Given the description of an element on the screen output the (x, y) to click on. 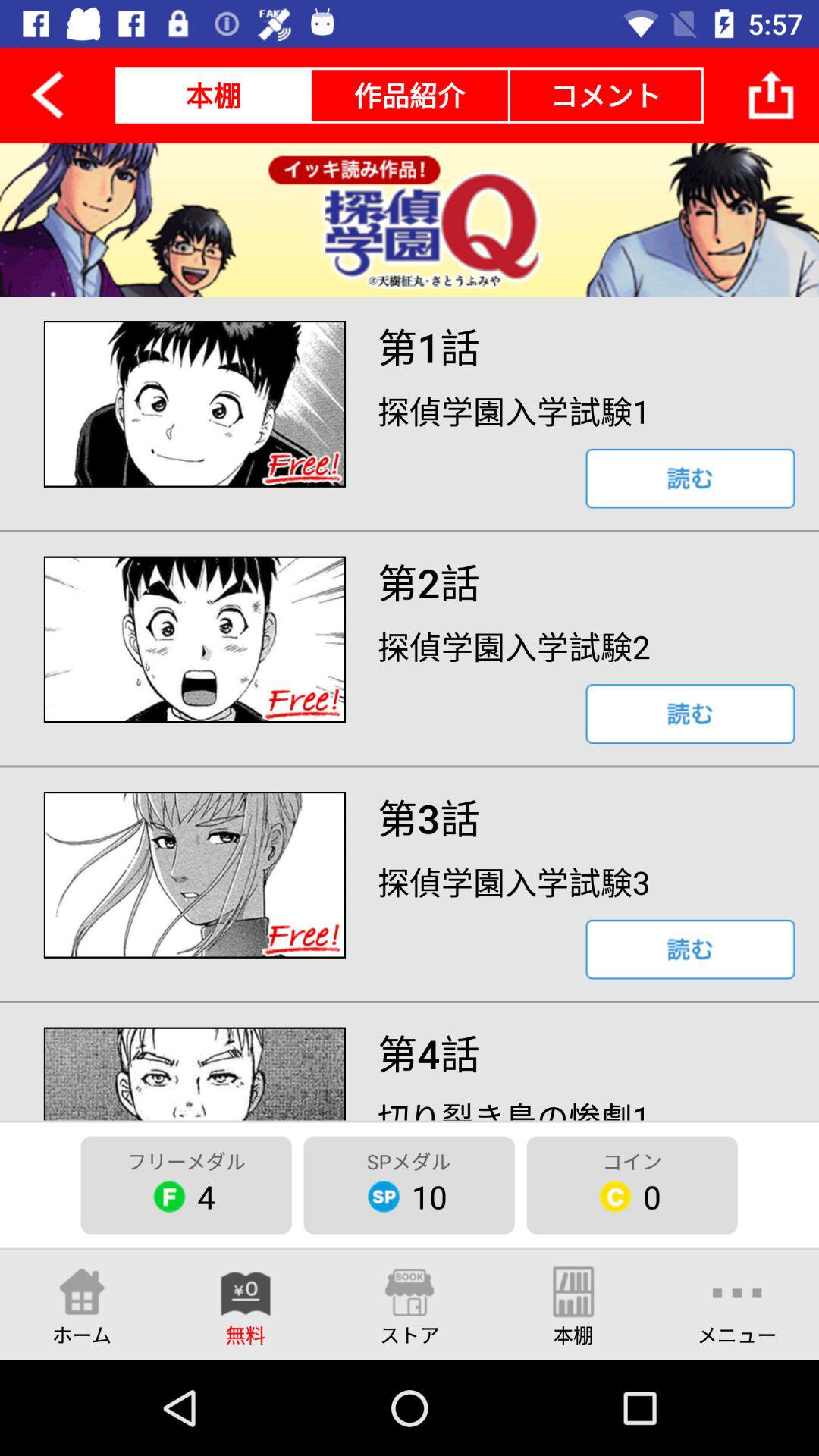
launch icon below 0 item (737, 1305)
